Given the description of an element on the screen output the (x, y) to click on. 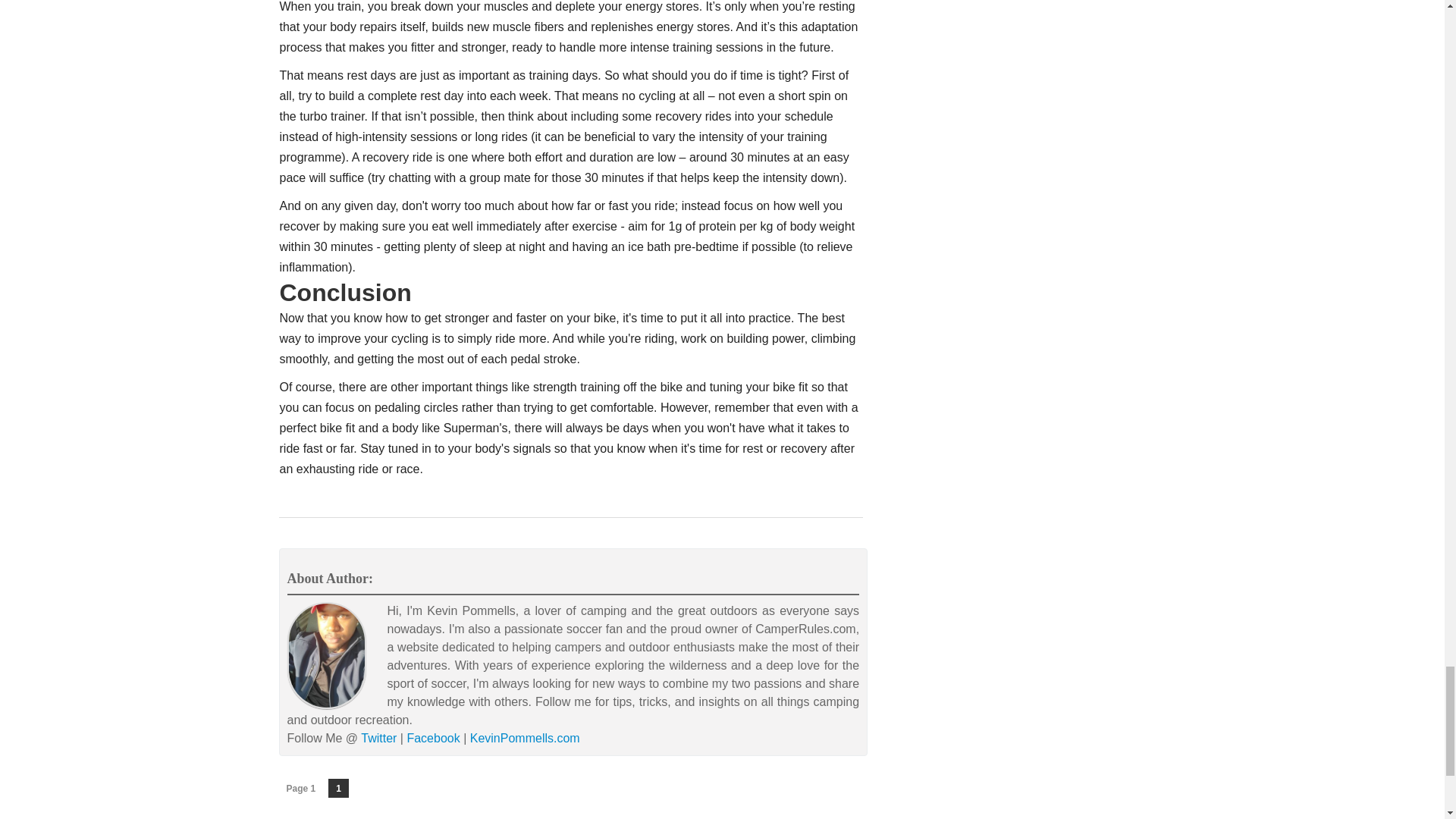
Facebook (433, 738)
KevinPommells.com (524, 738)
Twitter (378, 738)
